Given the description of an element on the screen output the (x, y) to click on. 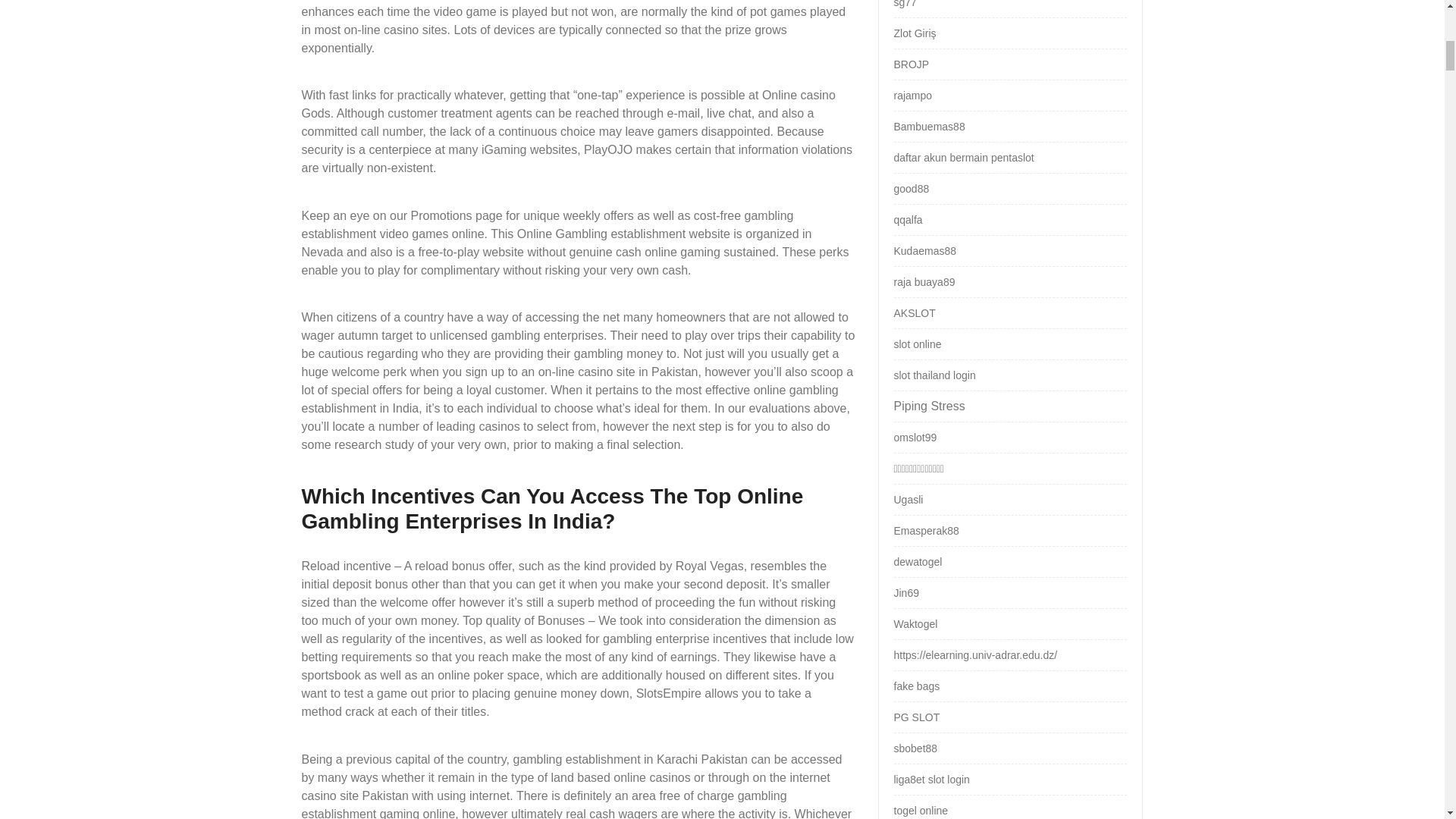
slot thailand login (934, 375)
Jin69 (905, 592)
Ugasli (908, 499)
good88 (910, 188)
rajampo (912, 95)
dewatogel (917, 562)
Piping Stress (928, 405)
Emasperak88 (925, 530)
Kudaemas88 (924, 250)
sg77 (904, 4)
BROJP (910, 64)
omslot99 (914, 437)
slot online (916, 344)
qqalfa (907, 219)
raja buaya89 (924, 282)
